Given the description of an element on the screen output the (x, y) to click on. 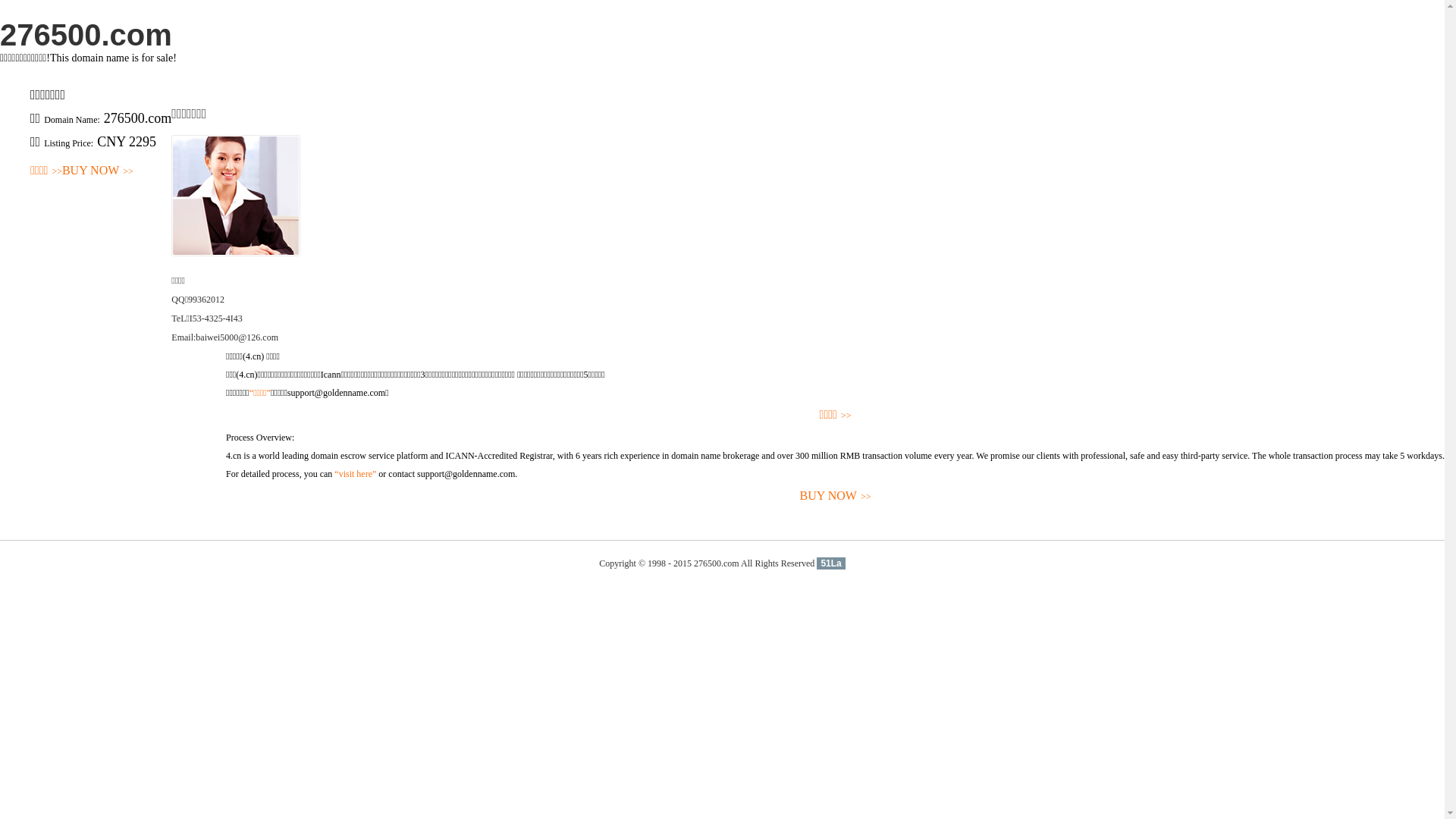
BUY NOW>> Element type: text (97, 170)
51La Element type: text (830, 563)
BUY NOW>> Element type: text (834, 496)
